Given the description of an element on the screen output the (x, y) to click on. 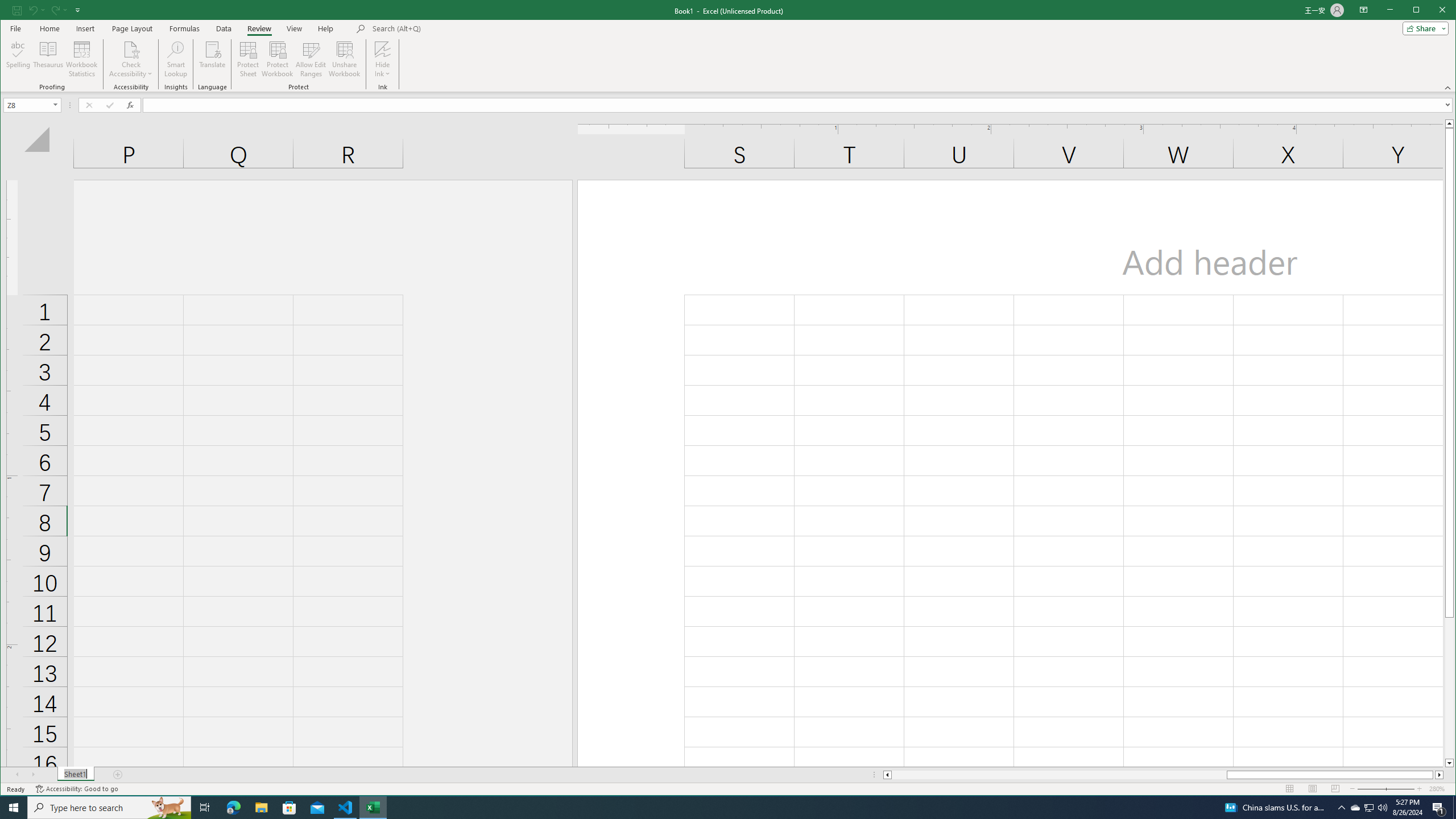
Data (223, 28)
Workbook Statistics (82, 59)
Search highlights icon opens search home window (167, 807)
Notification Chevron (1341, 807)
Microsoft Store (289, 807)
Undo (32, 9)
File Tab (15, 27)
Allow Edit Ranges (310, 59)
Column right (1439, 774)
Scroll Right (34, 774)
